Given the description of an element on the screen output the (x, y) to click on. 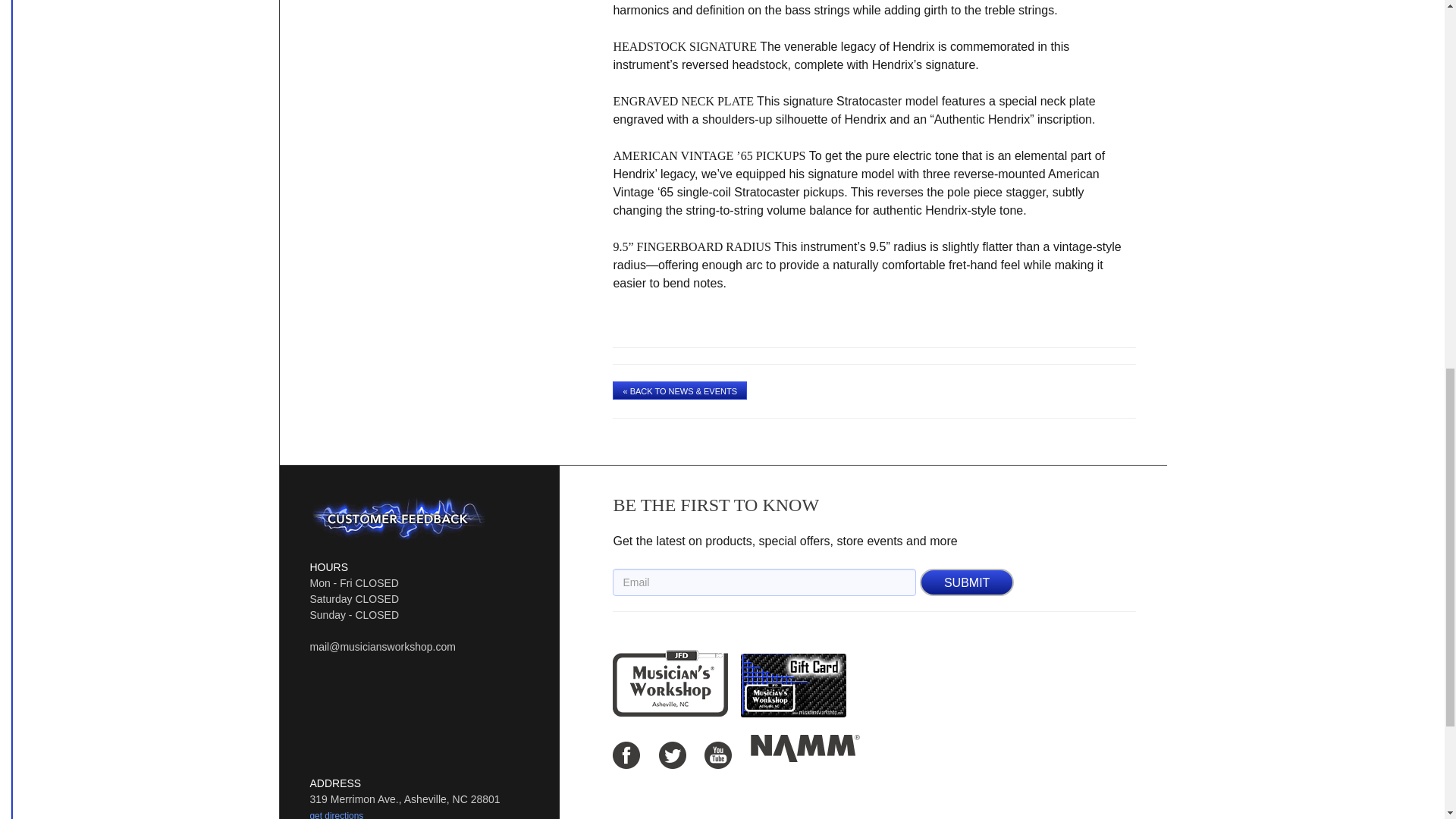
Musician's Workshop (670, 683)
Submit (966, 582)
Submit (966, 582)
get directions (335, 814)
Musician's Workshop (670, 683)
Facebook (626, 755)
Send Us Your Feedback (397, 518)
Feedback (397, 518)
YouTube (718, 755)
Musician's Workshop Virtual E-Card (793, 658)
